Given the description of an element on the screen output the (x, y) to click on. 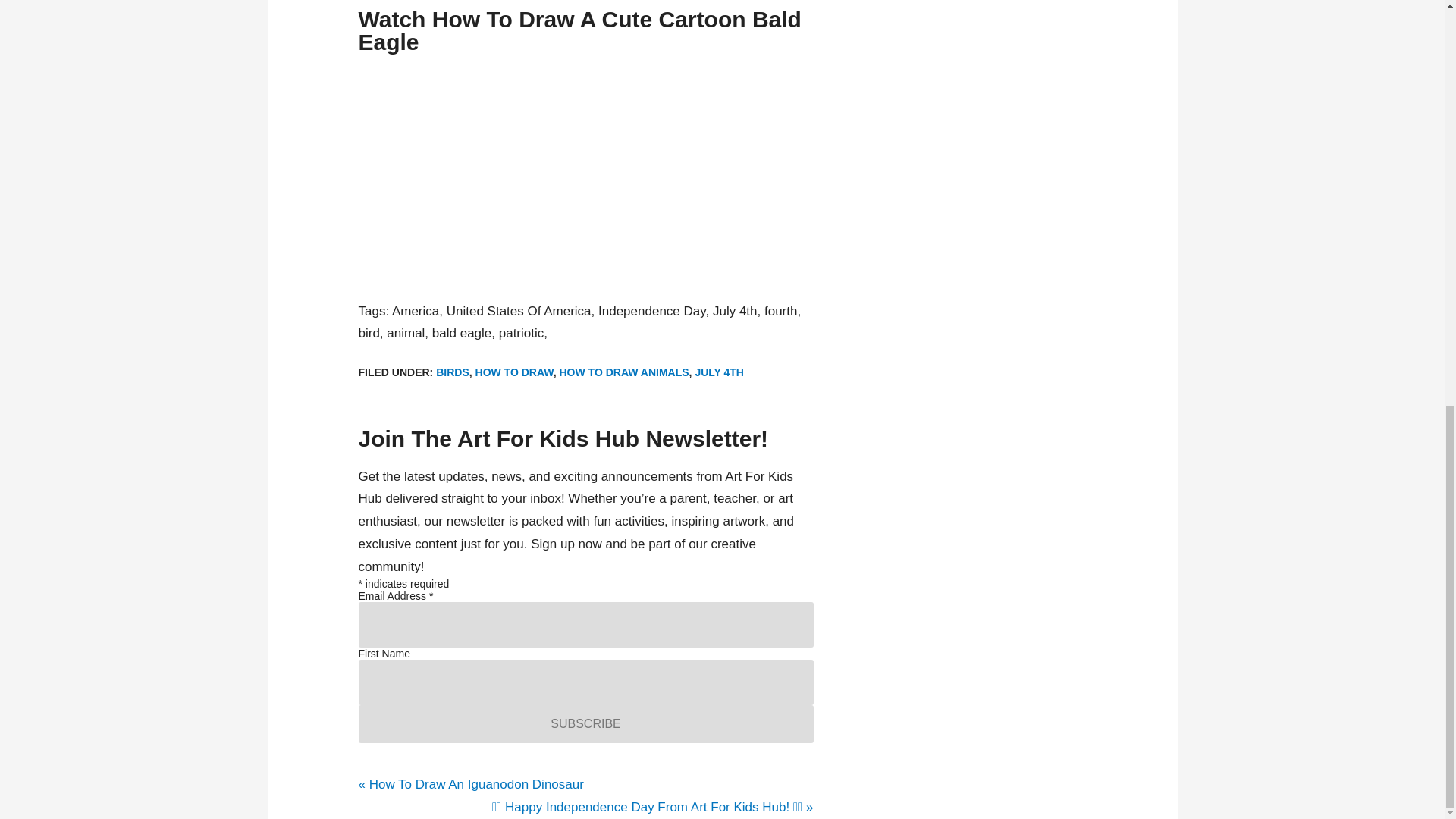
Subscribe (585, 723)
How To Draw A Cute Cartoon Bald Eagle (585, 174)
